Given the description of an element on the screen output the (x, y) to click on. 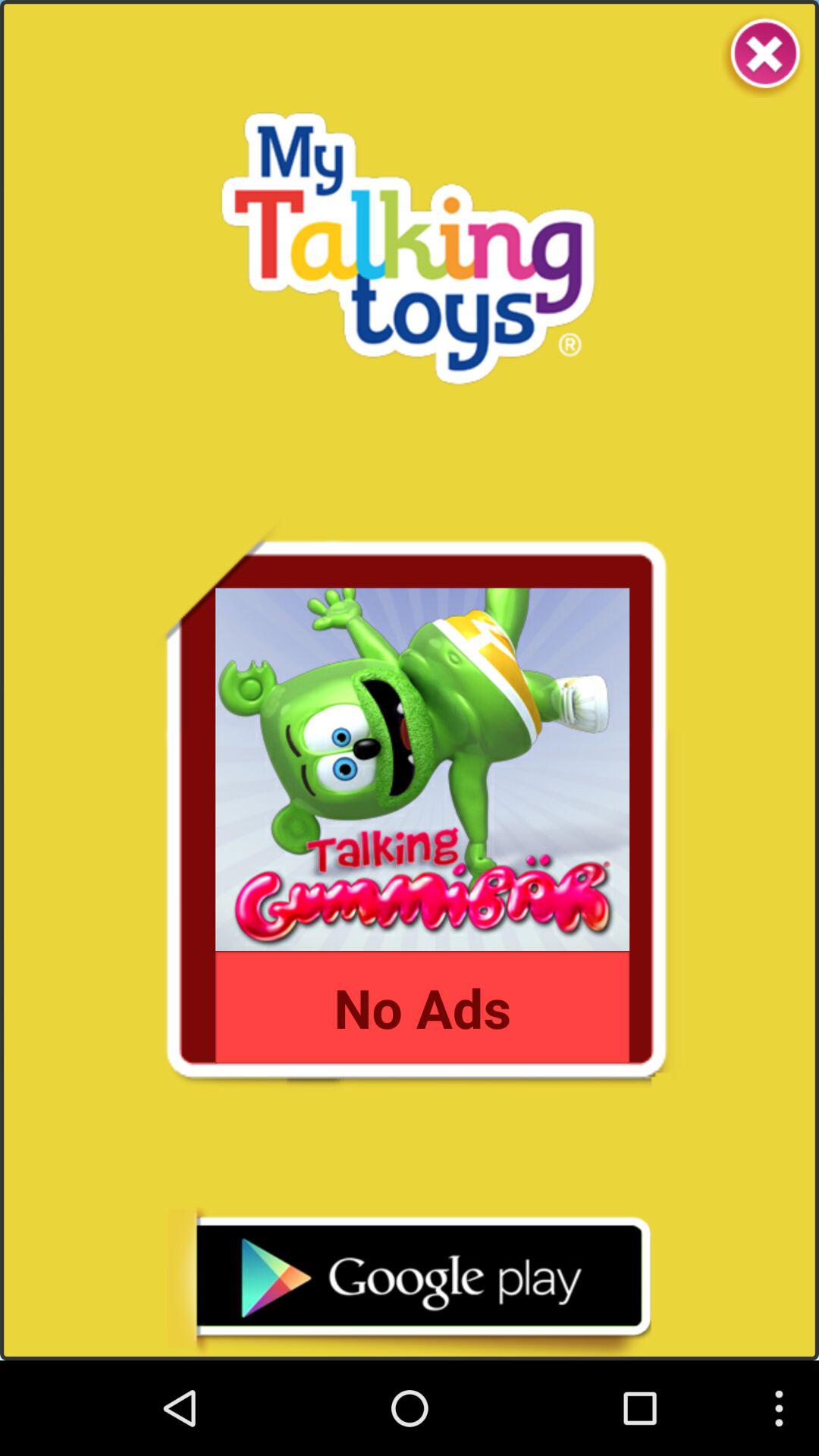
open google play (409, 1283)
